Given the description of an element on the screen output the (x, y) to click on. 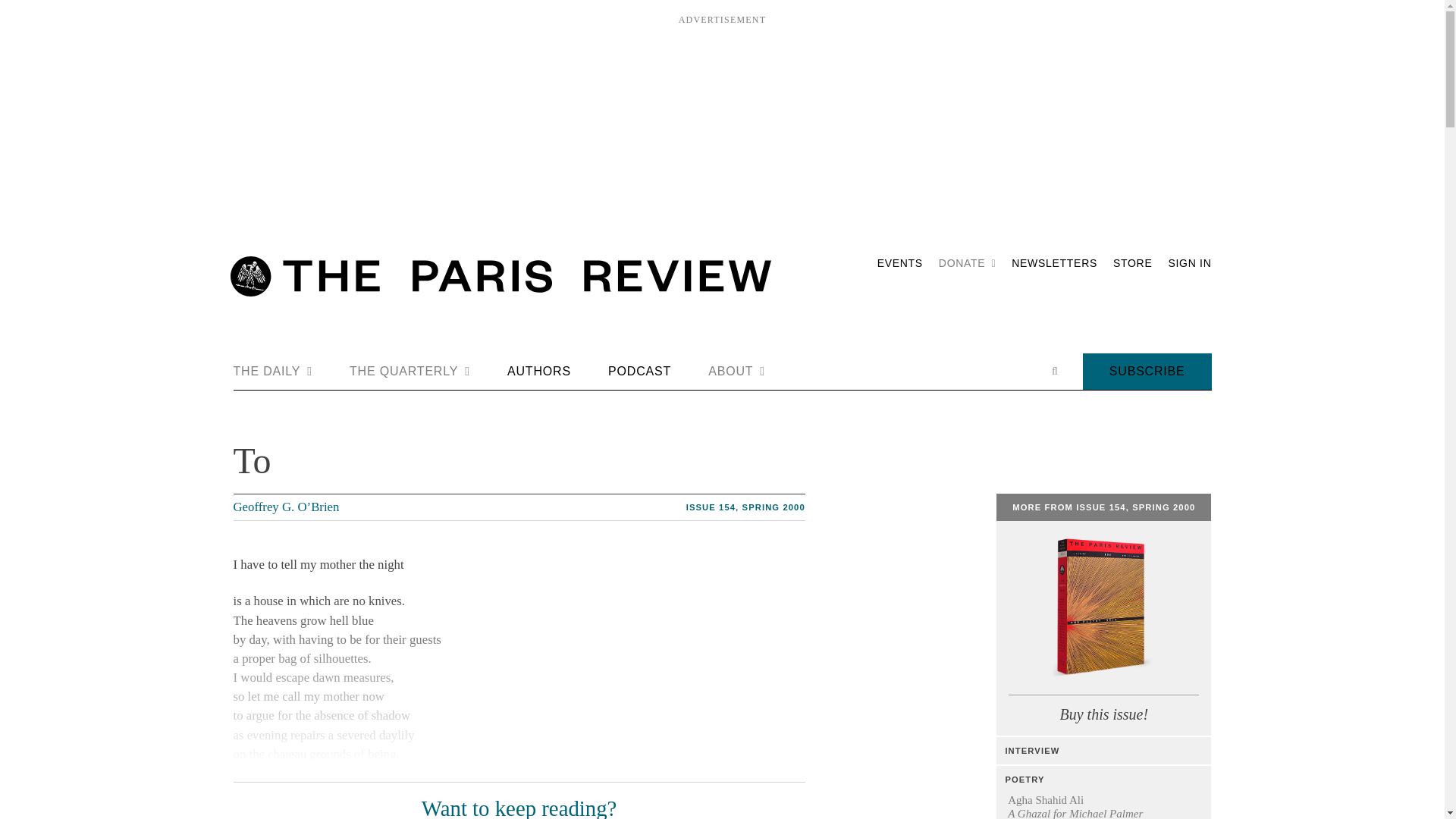
THE DAILY (272, 371)
THE QUARTERLY (409, 371)
Open search (1054, 371)
